Given the description of an element on the screen output the (x, y) to click on. 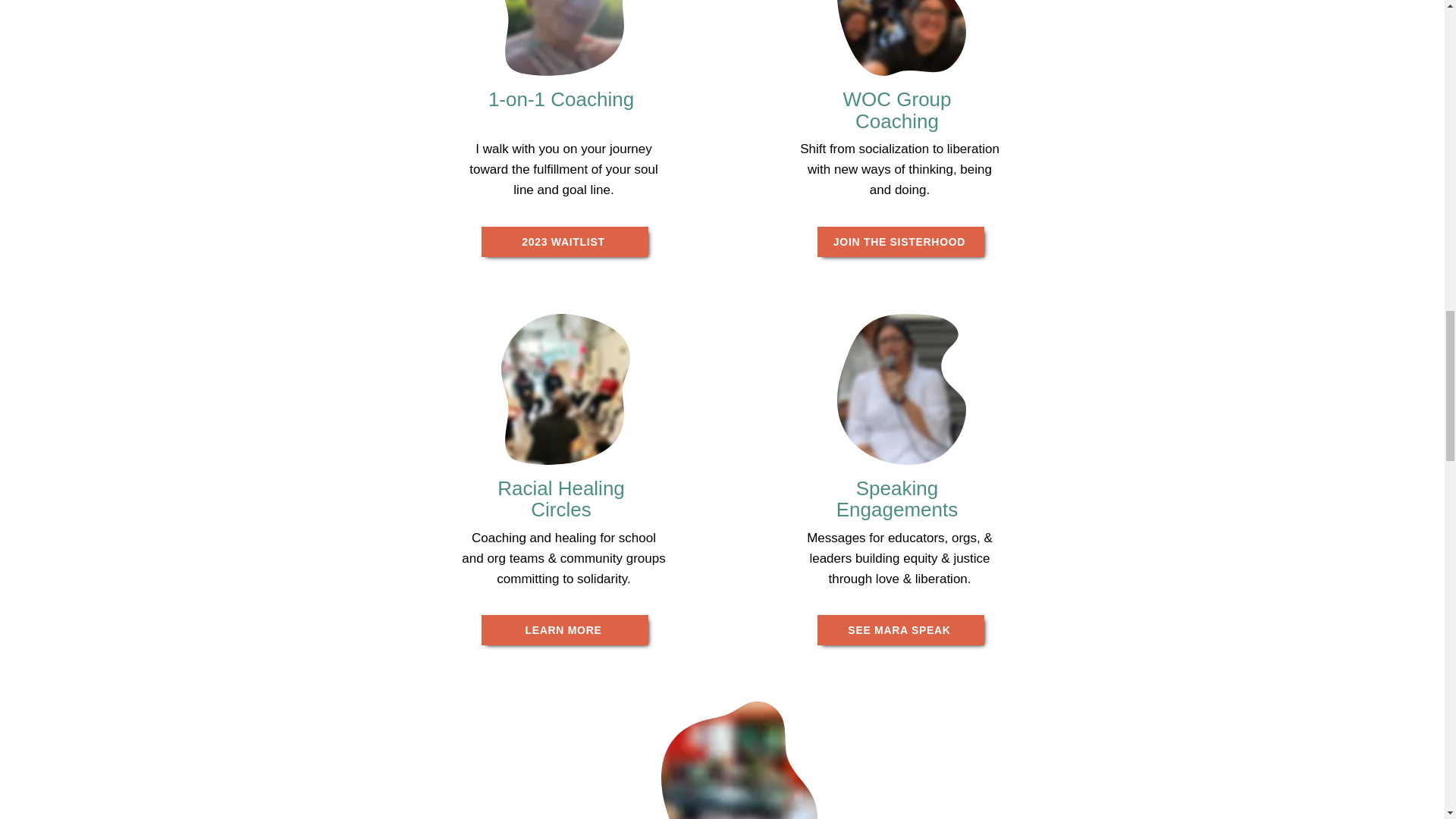
2023 WAITLIST (564, 241)
SEE MARA SPEAK (900, 630)
LEARN MORE (564, 630)
JOIN THE SISTERHOOD (900, 241)
